Given the description of an element on the screen output the (x, y) to click on. 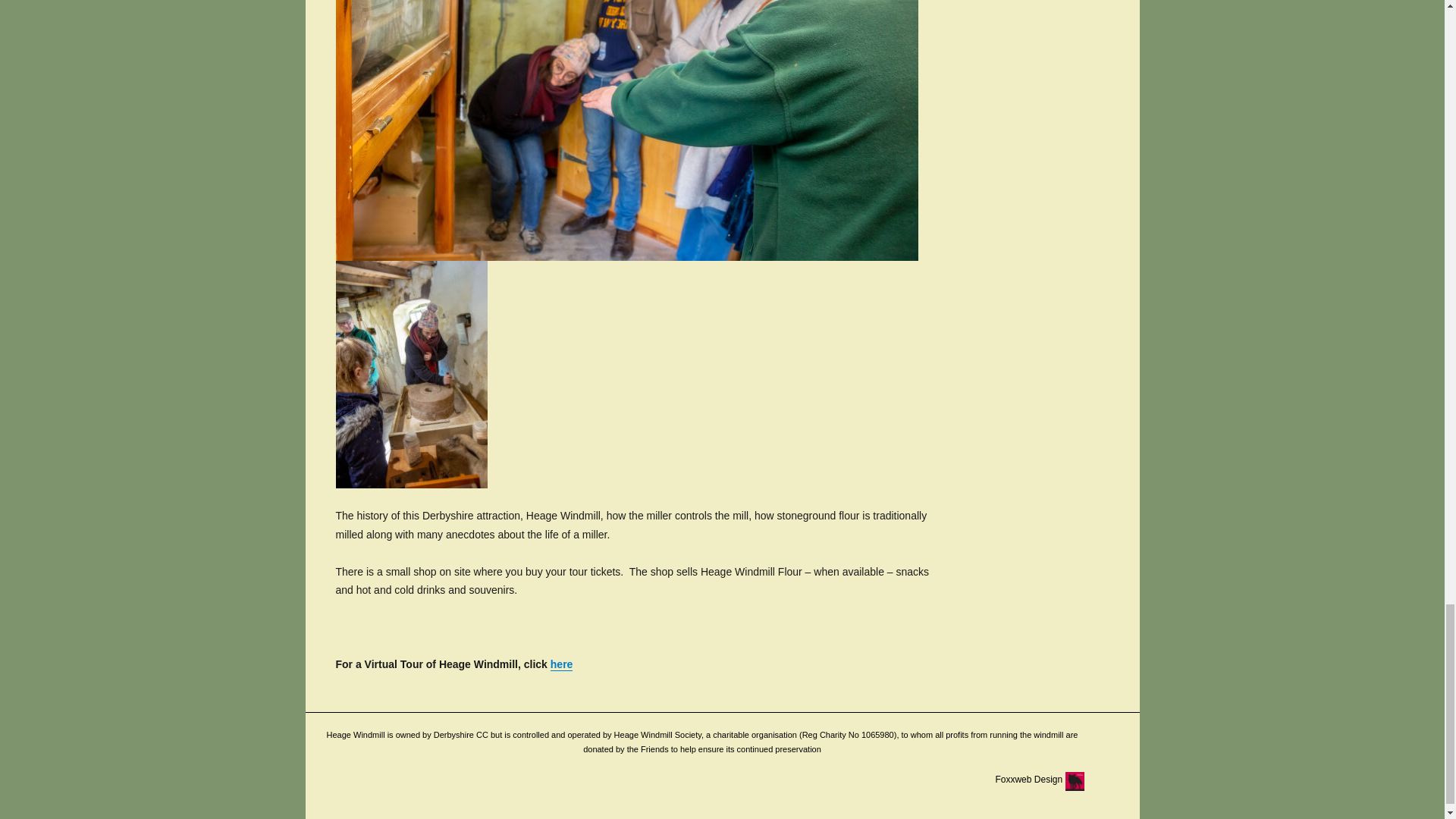
Virtual Tour (561, 664)
here (561, 664)
